Given the description of an element on the screen output the (x, y) to click on. 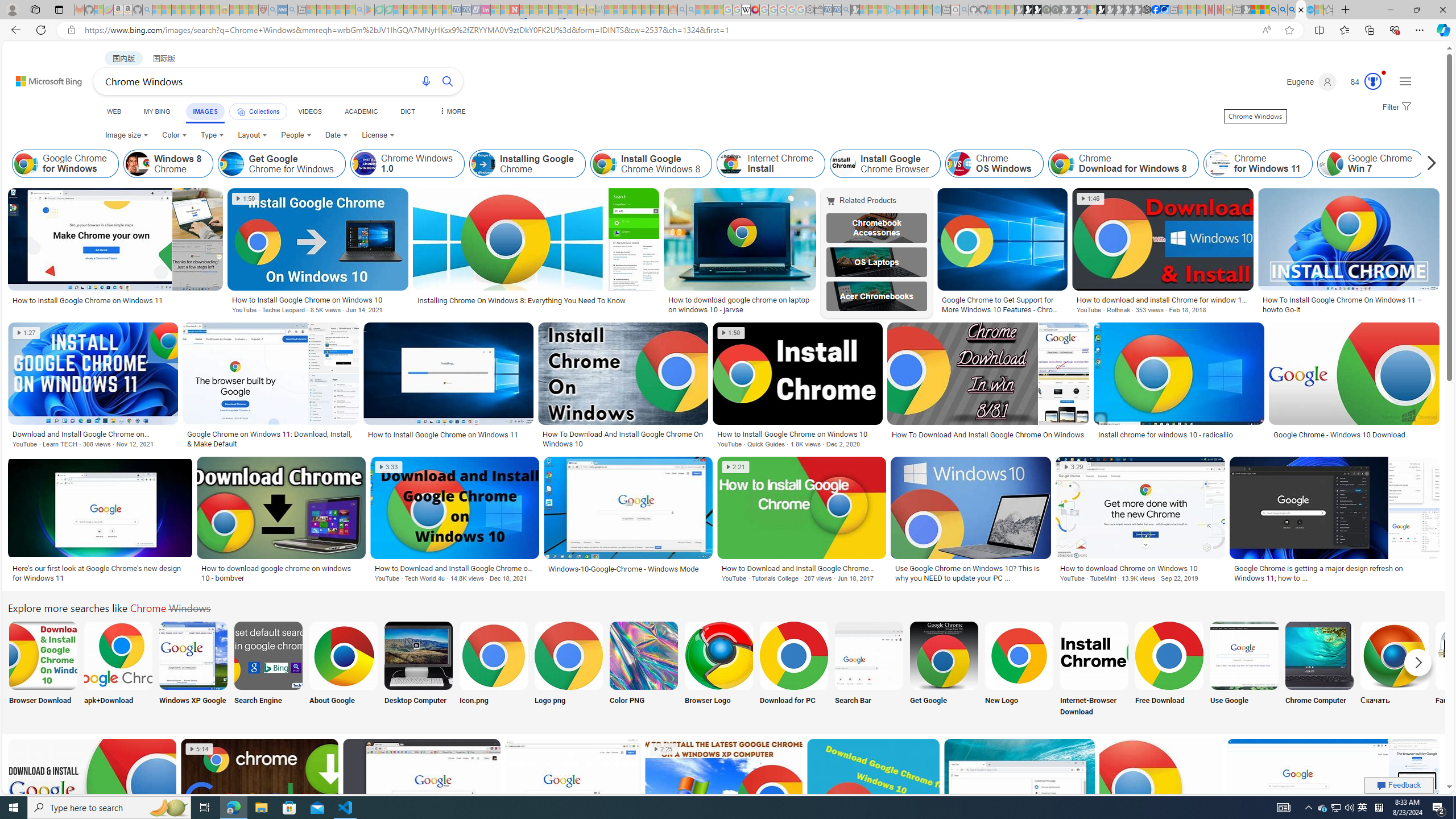
Chrome Search Bar (868, 654)
License (377, 135)
Bluey: Let's Play! - Apps on Google Play - Sleeping (369, 9)
Get Google Chrome (944, 654)
14 Common Myths Debunked By Scientific Facts - Sleeping (533, 9)
Install Google Chrome Browser (884, 163)
Use Google Chrome Use Google (1243, 669)
Google Chrome Win 7 (1331, 163)
